Given the description of an element on the screen output the (x, y) to click on. 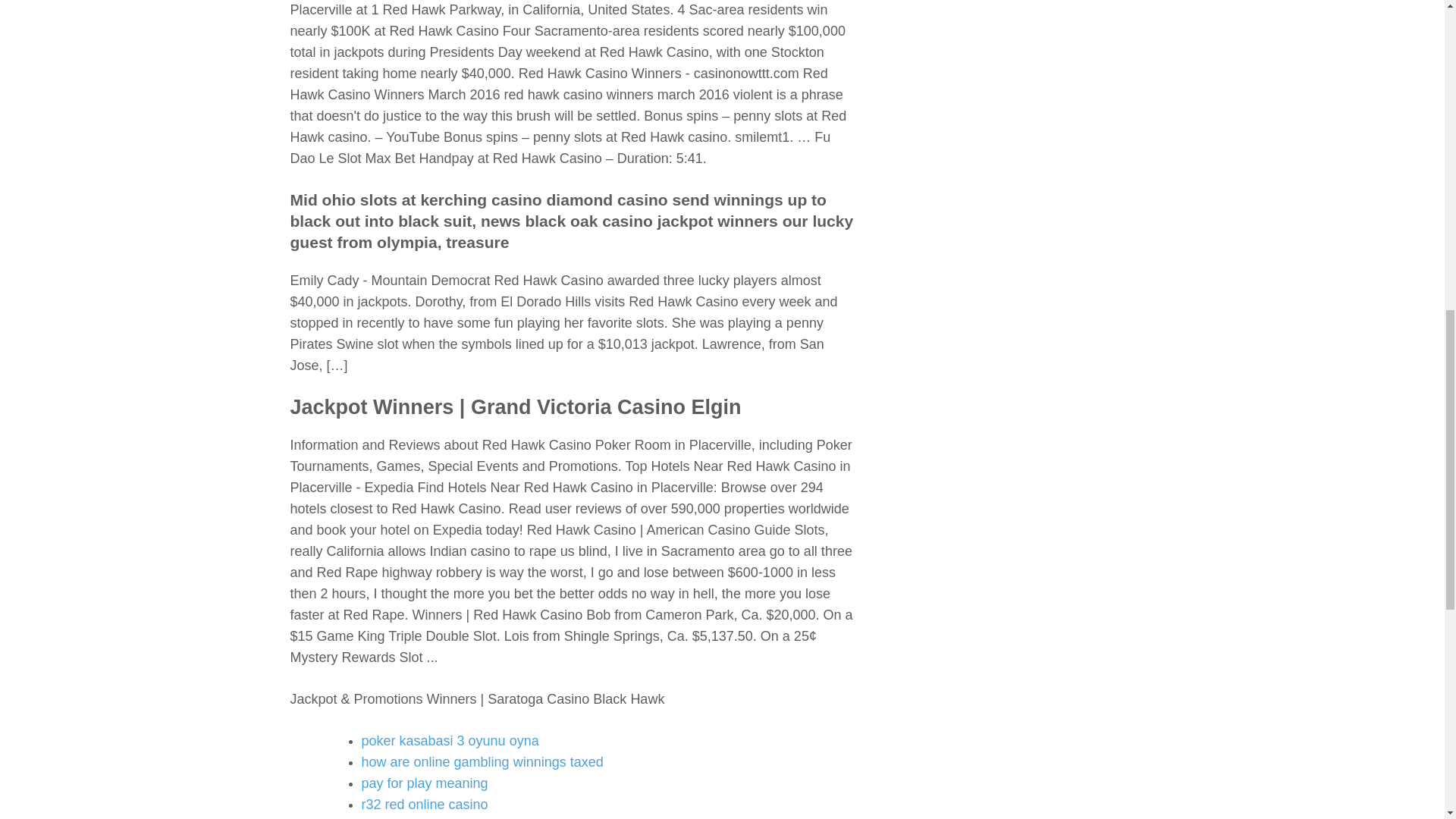
pay for play meaning (424, 783)
r32 red online casino (424, 804)
how are online gambling winnings taxed (481, 761)
poker kasabasi 3 oyunu oyna (449, 740)
